Given the description of an element on the screen output the (x, y) to click on. 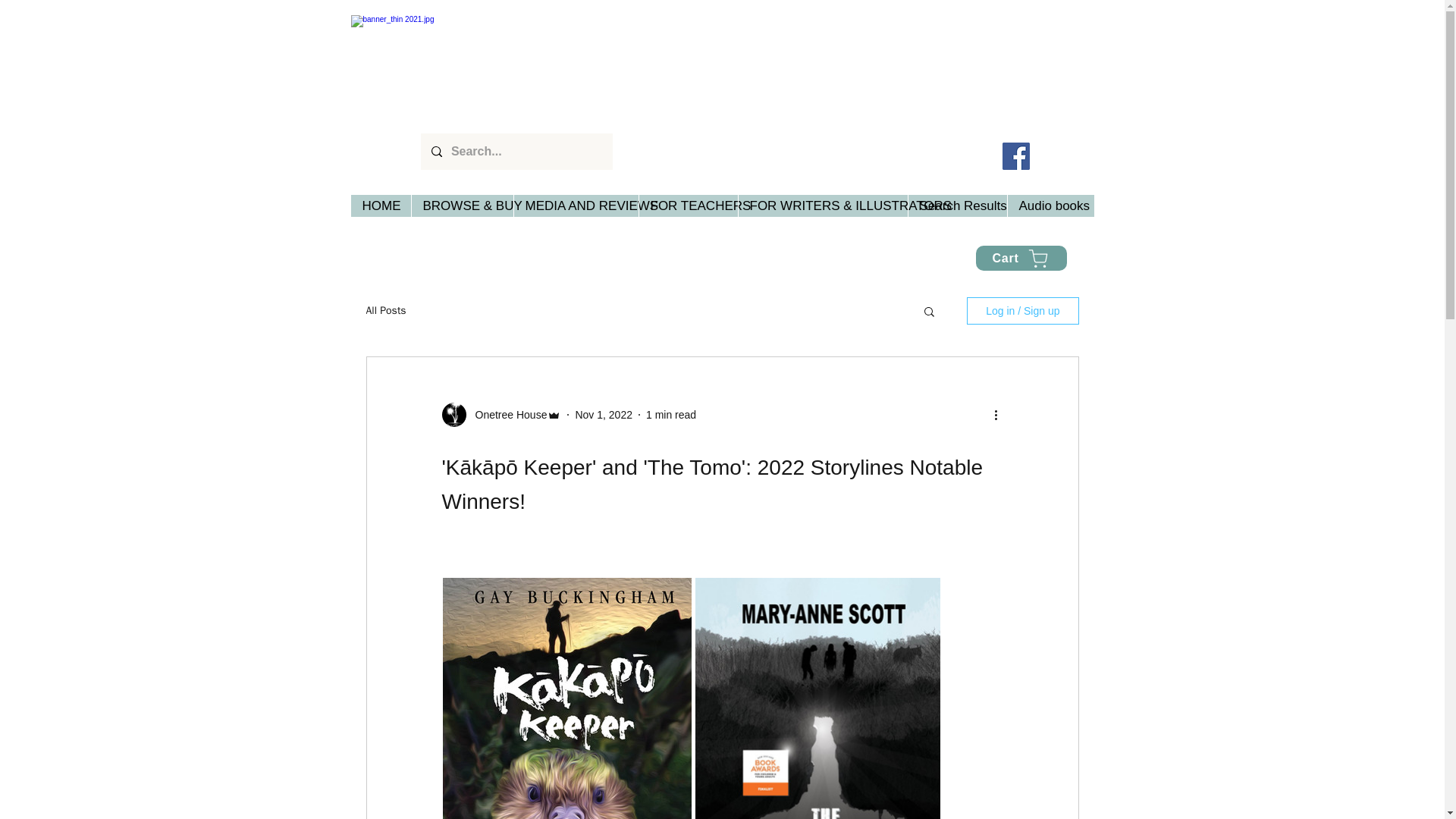
1 min read (670, 413)
Onetree House (506, 414)
Nov 1, 2022 (603, 413)
HOME (380, 205)
All Posts (385, 310)
